Given the description of an element on the screen output the (x, y) to click on. 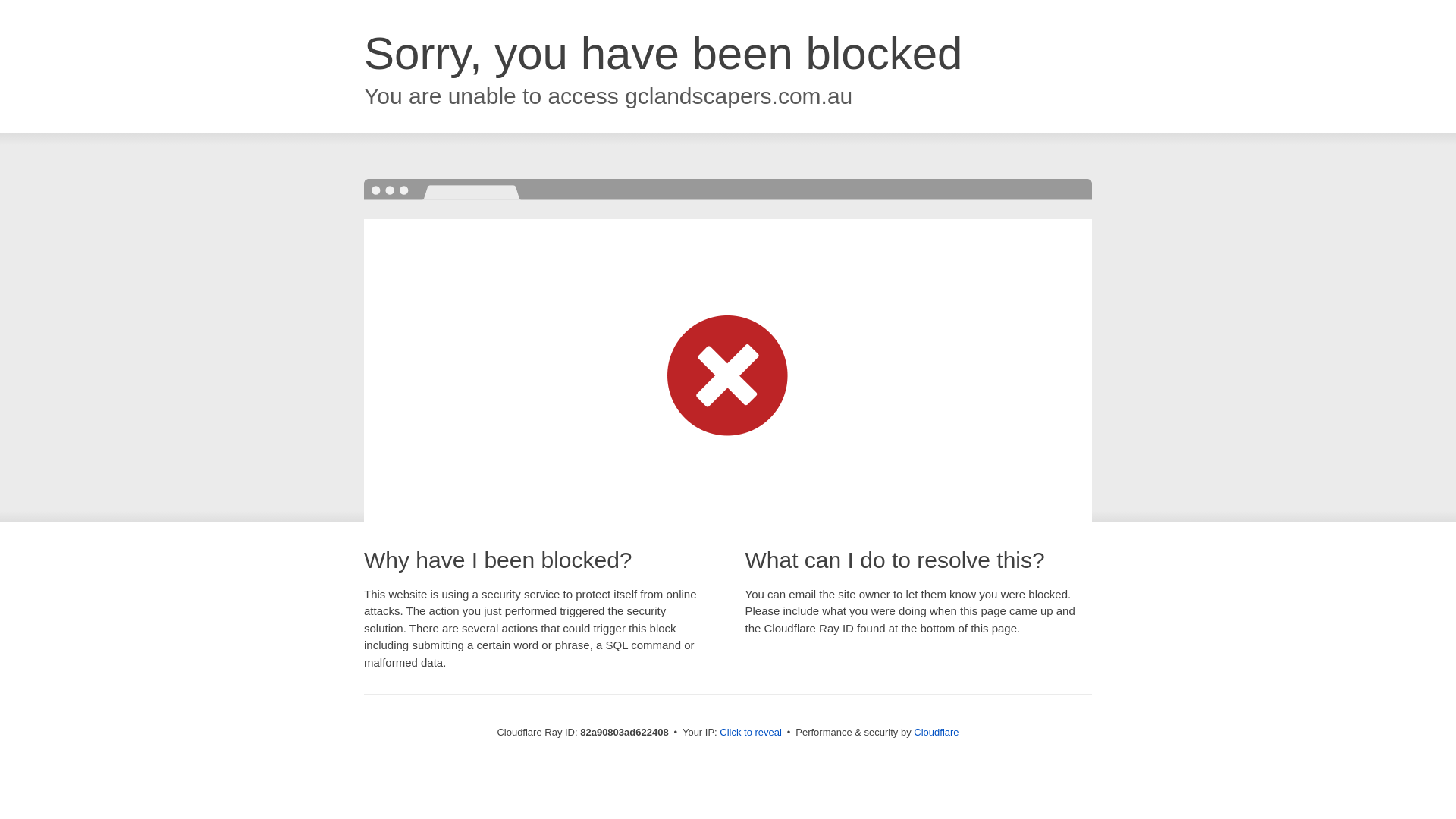
Cloudflare Element type: text (935, 731)
Click to reveal Element type: text (750, 732)
